Given the description of an element on the screen output the (x, y) to click on. 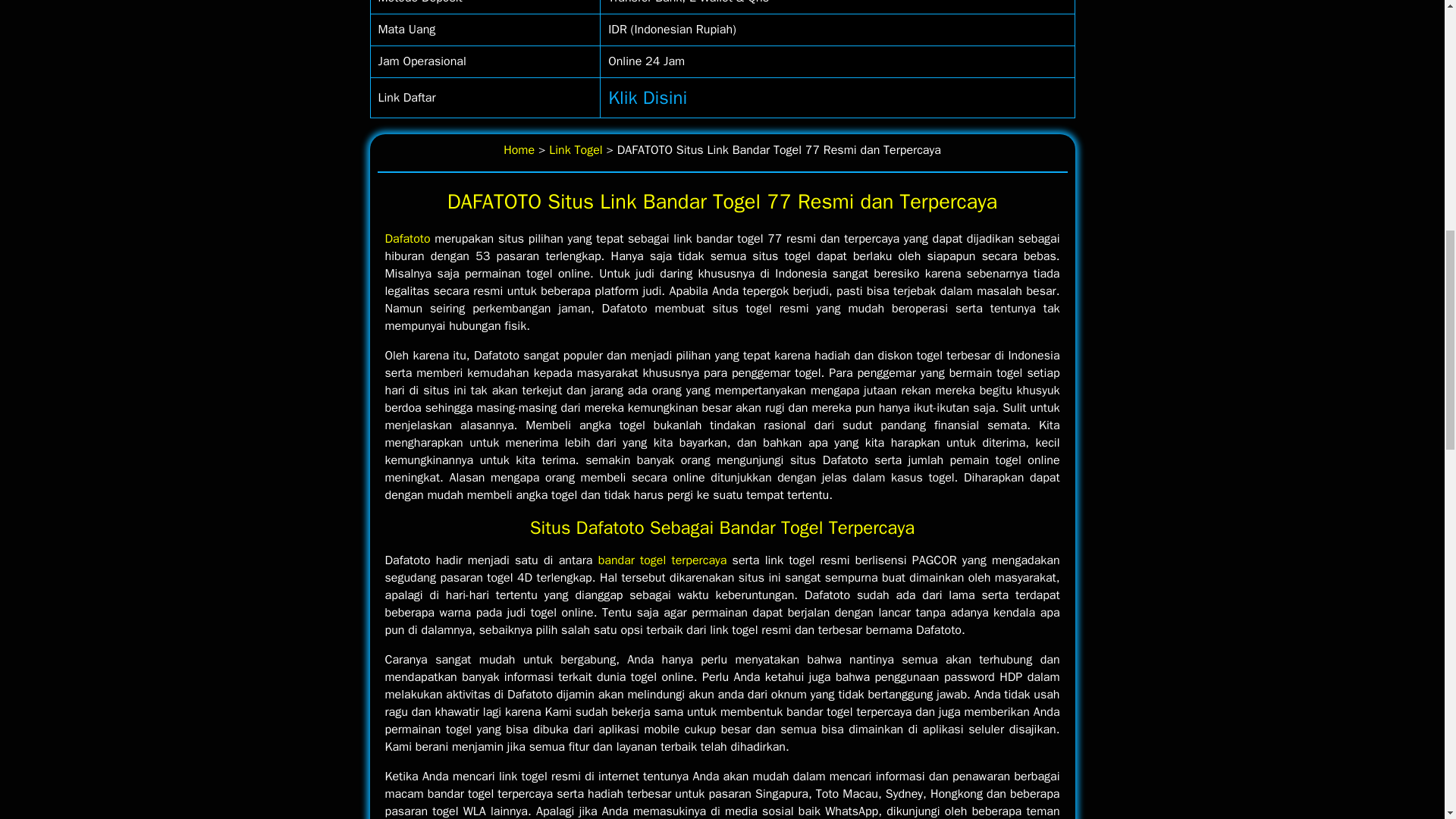
bandar togel terpercaya (662, 560)
bandar togel terpercaya (662, 560)
Dafatoto (407, 238)
Home (518, 150)
Klik Disini (647, 97)
Dafatoto (407, 238)
Klik Disini (647, 97)
Link Togel (575, 150)
